Given the description of an element on the screen output the (x, y) to click on. 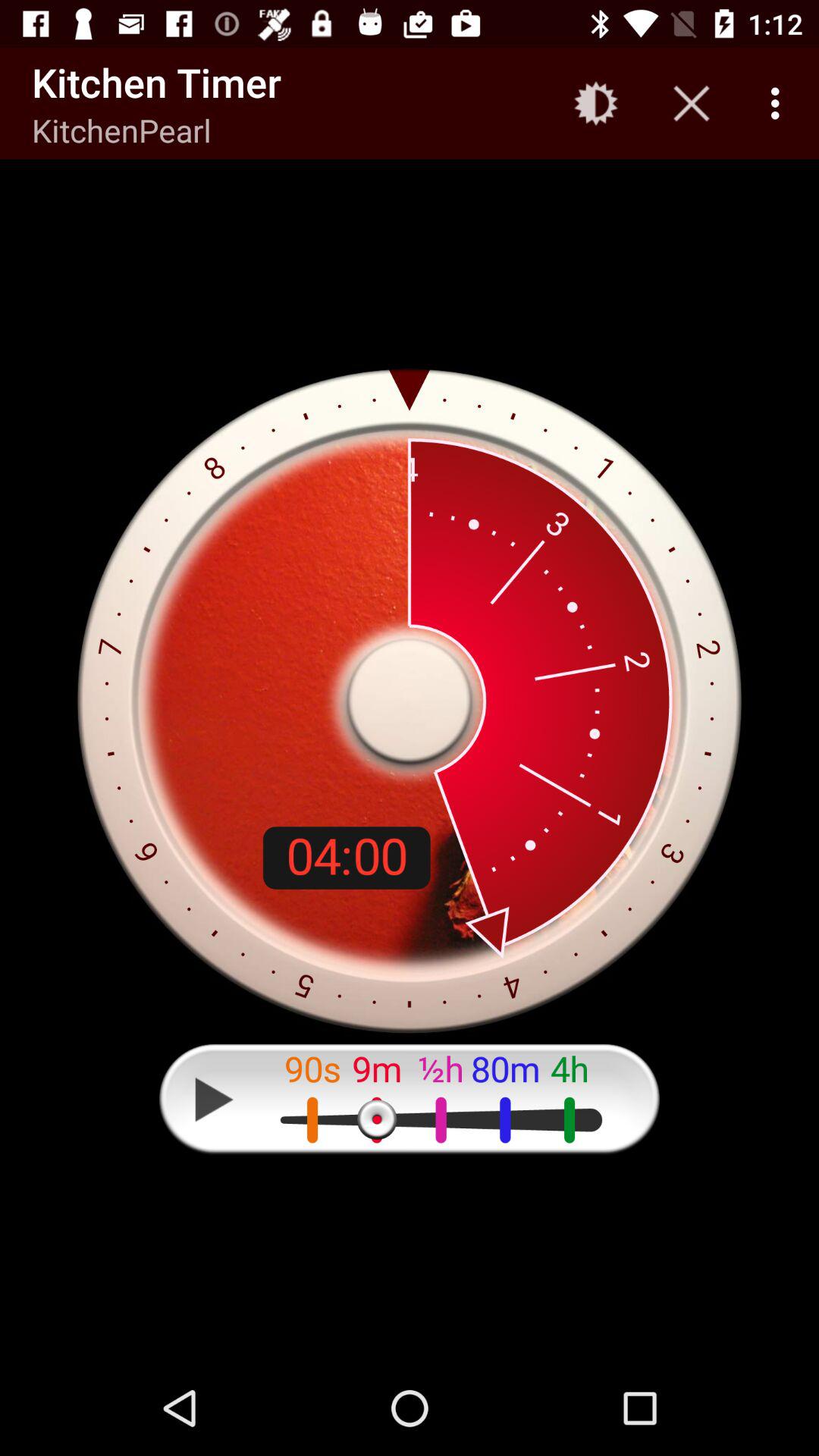
click icon to the right of kitchen timer item (595, 103)
